Given the description of an element on the screen output the (x, y) to click on. 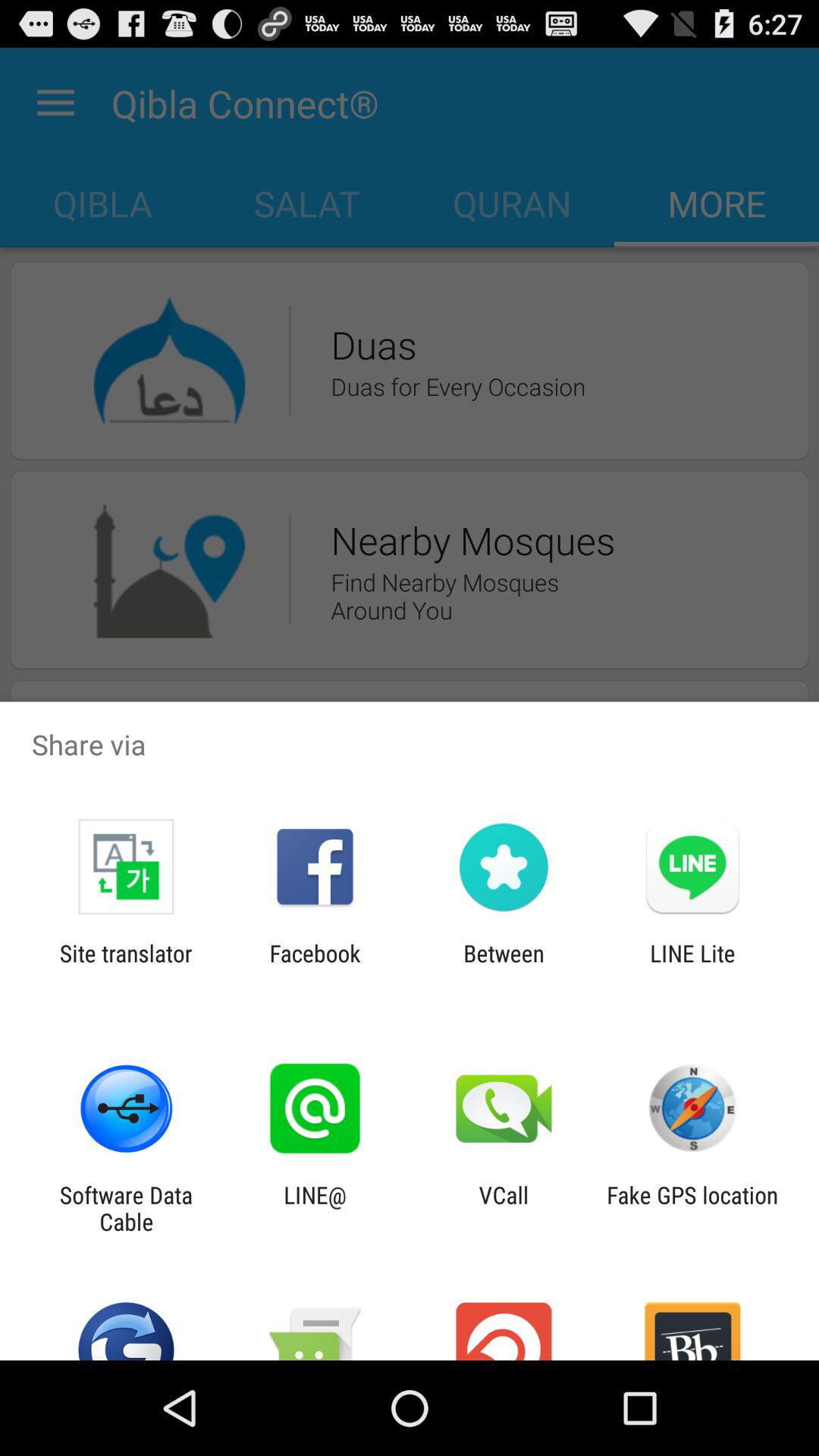
select icon next to the facebook app (503, 966)
